Given the description of an element on the screen output the (x, y) to click on. 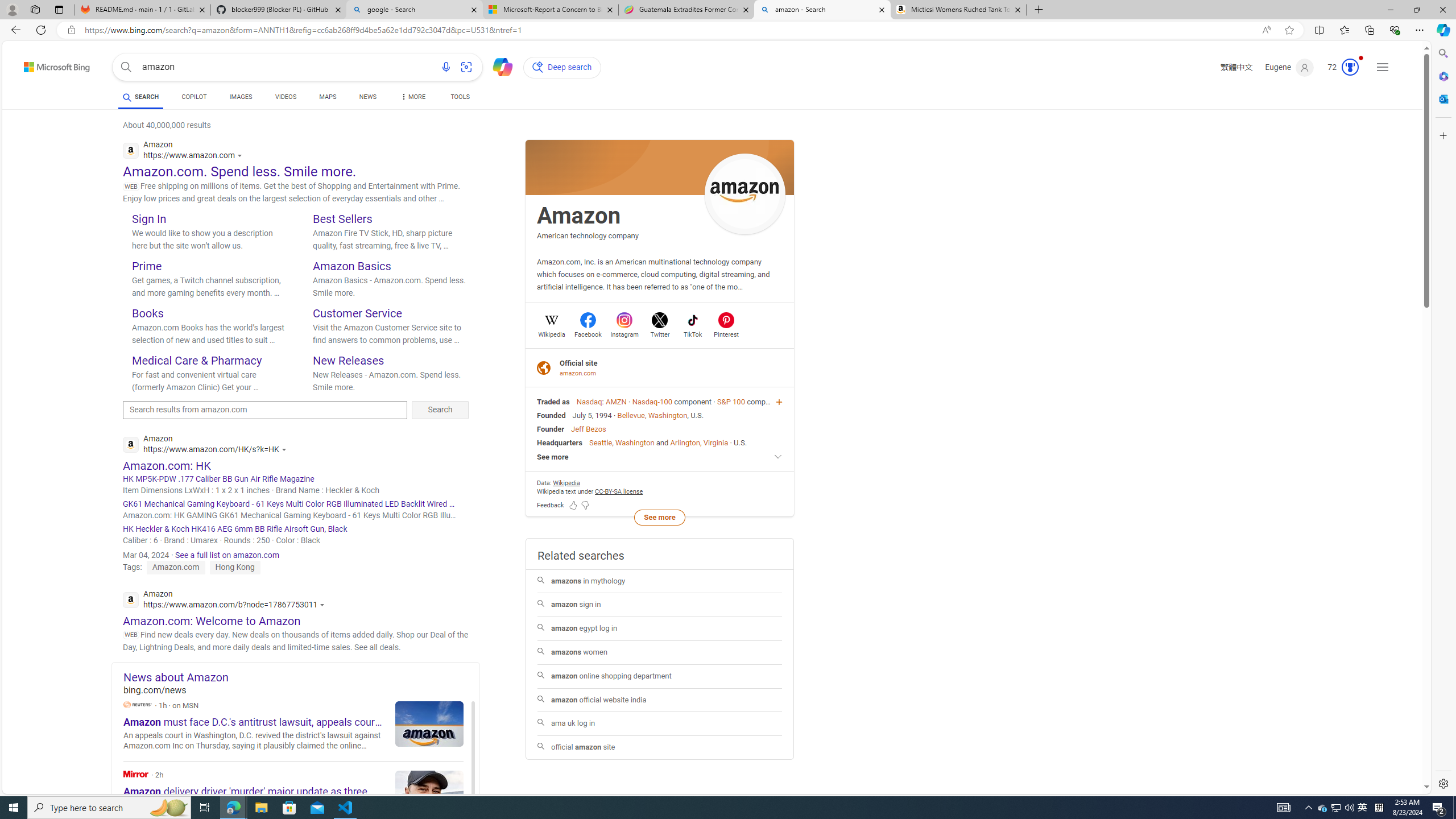
Amazon.com: HK (166, 465)
ama uk log in (659, 723)
COPILOT (193, 96)
Animation (1360, 57)
Customer Service (357, 313)
Reuters on MSN.com (137, 704)
COPILOT (193, 98)
CC-BY-SA license (619, 491)
American technology company (588, 235)
amazons women (659, 652)
Headquarters (559, 442)
Actions for this site (323, 604)
VIDEOS (285, 98)
